Given the description of an element on the screen output the (x, y) to click on. 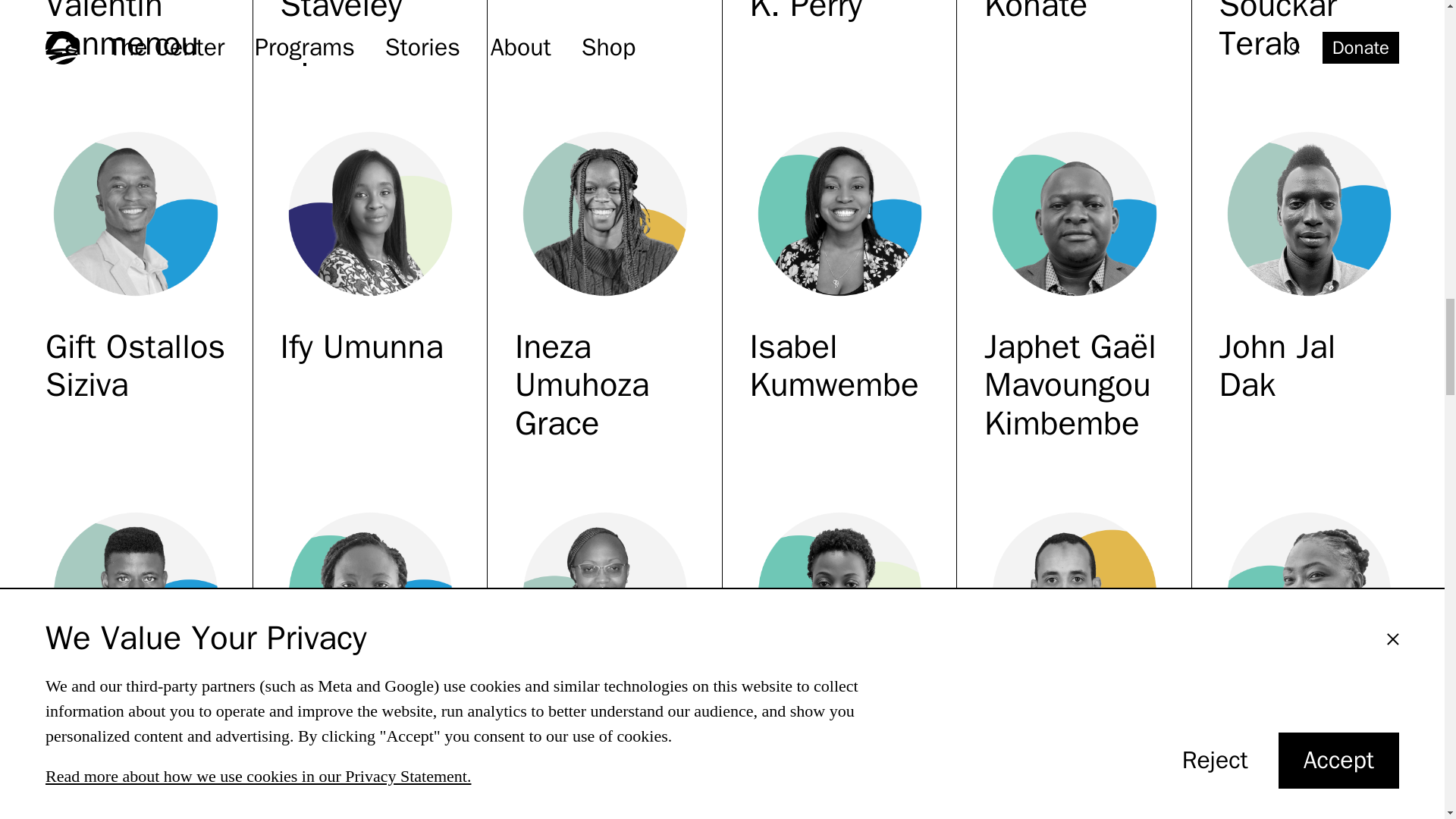
Fatime Souckar Terab (1309, 31)
Confidence Staveley (371, 12)
Dieudonne K. Perry (839, 12)
Claude Valentin Zanmenou (135, 31)
